Given the description of an element on the screen output the (x, y) to click on. 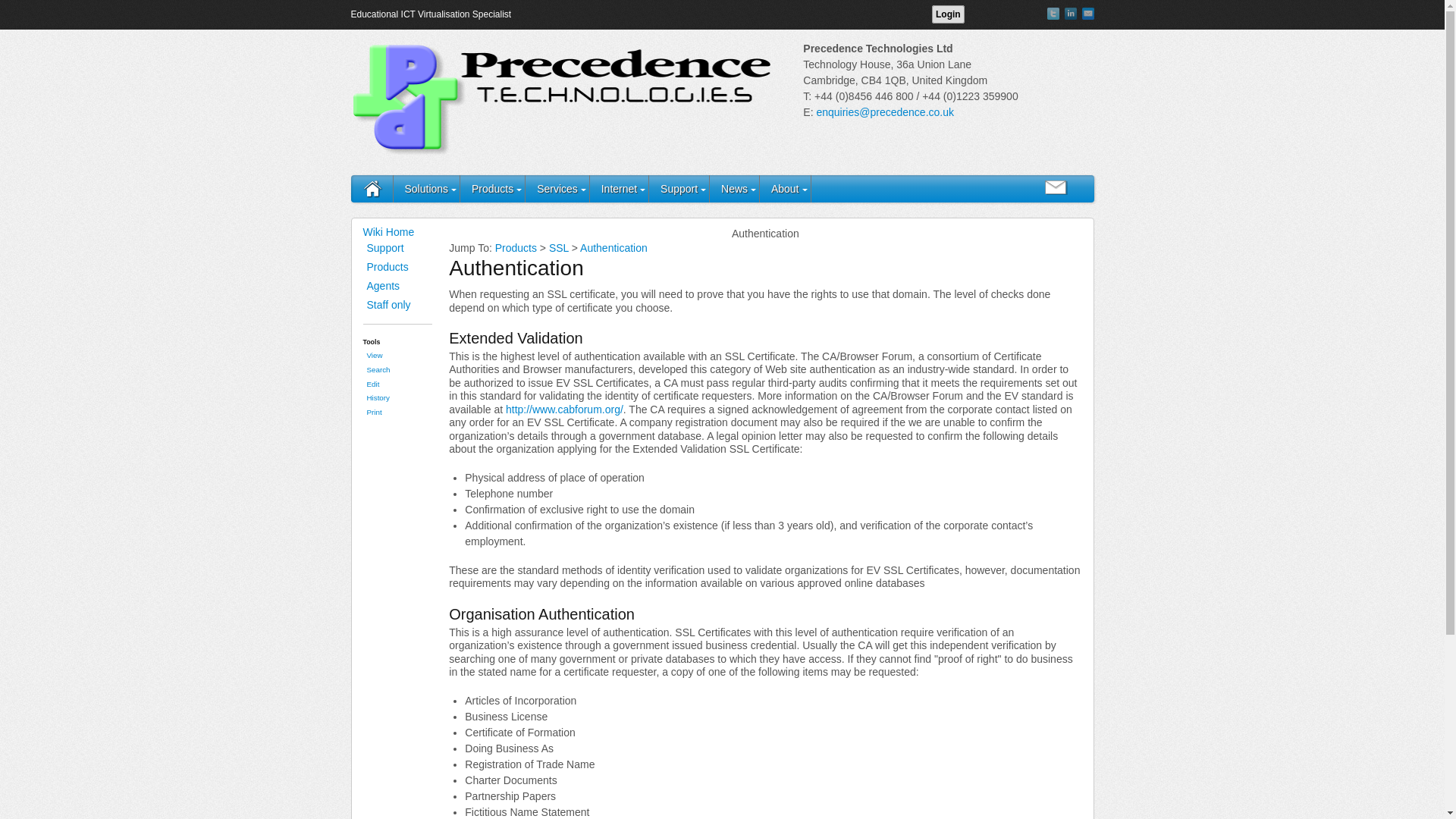
Solutions (426, 188)
Login (947, 13)
Products (492, 188)
